Given the description of an element on the screen output the (x, y) to click on. 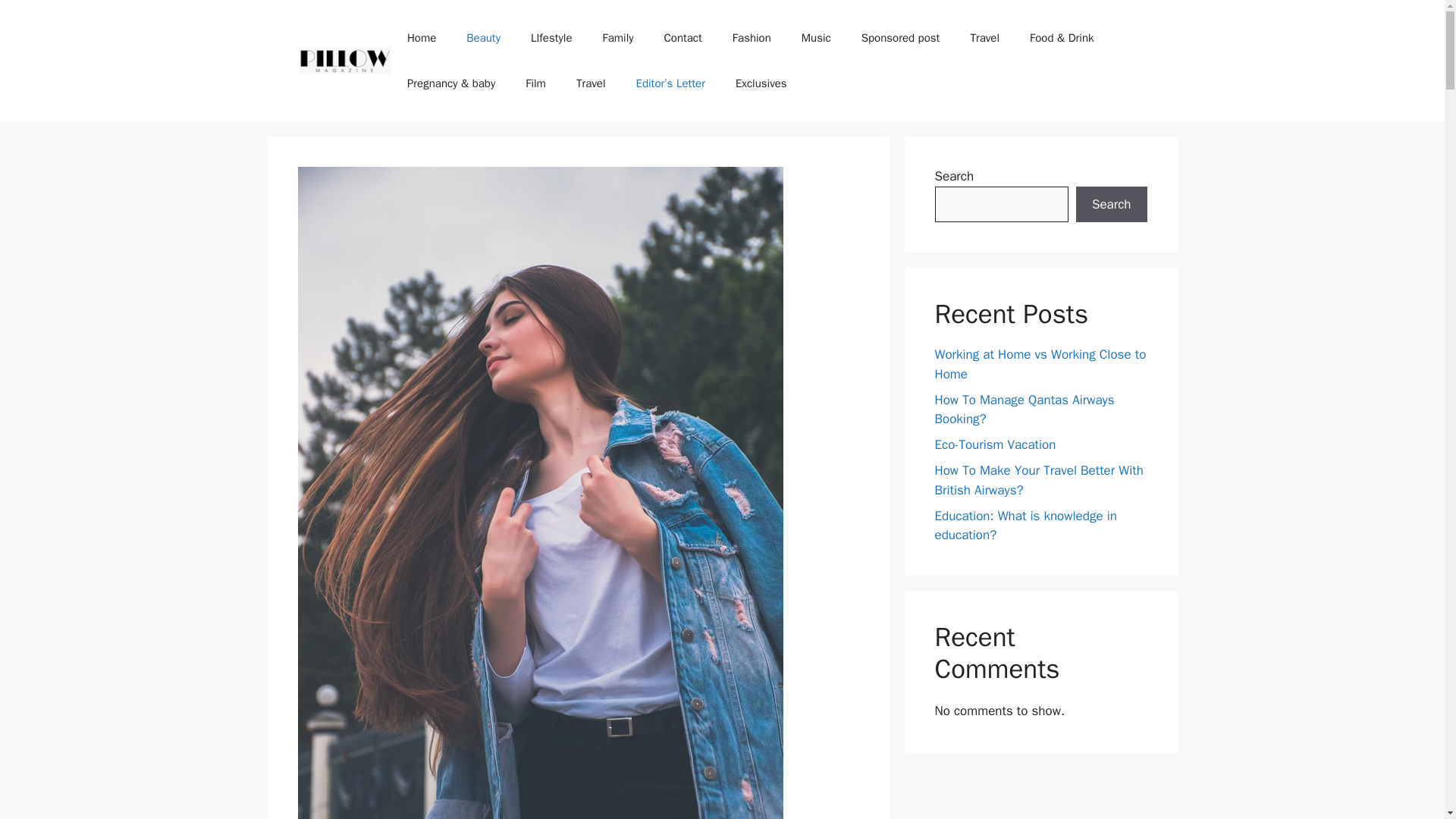
Search (1111, 204)
Pillow Magazine (344, 60)
Family (616, 37)
Beauty (483, 37)
Music (815, 37)
Home (421, 37)
Travel (590, 83)
Sponsored post (900, 37)
Exclusives (761, 83)
Working at Home vs Working Close to Home (1039, 364)
How To Make Your Travel Better With British Airways? (1038, 479)
Education: What is knowledge in education? (1025, 525)
Fashion (751, 37)
Contact (683, 37)
LIfestyle (551, 37)
